Given the description of an element on the screen output the (x, y) to click on. 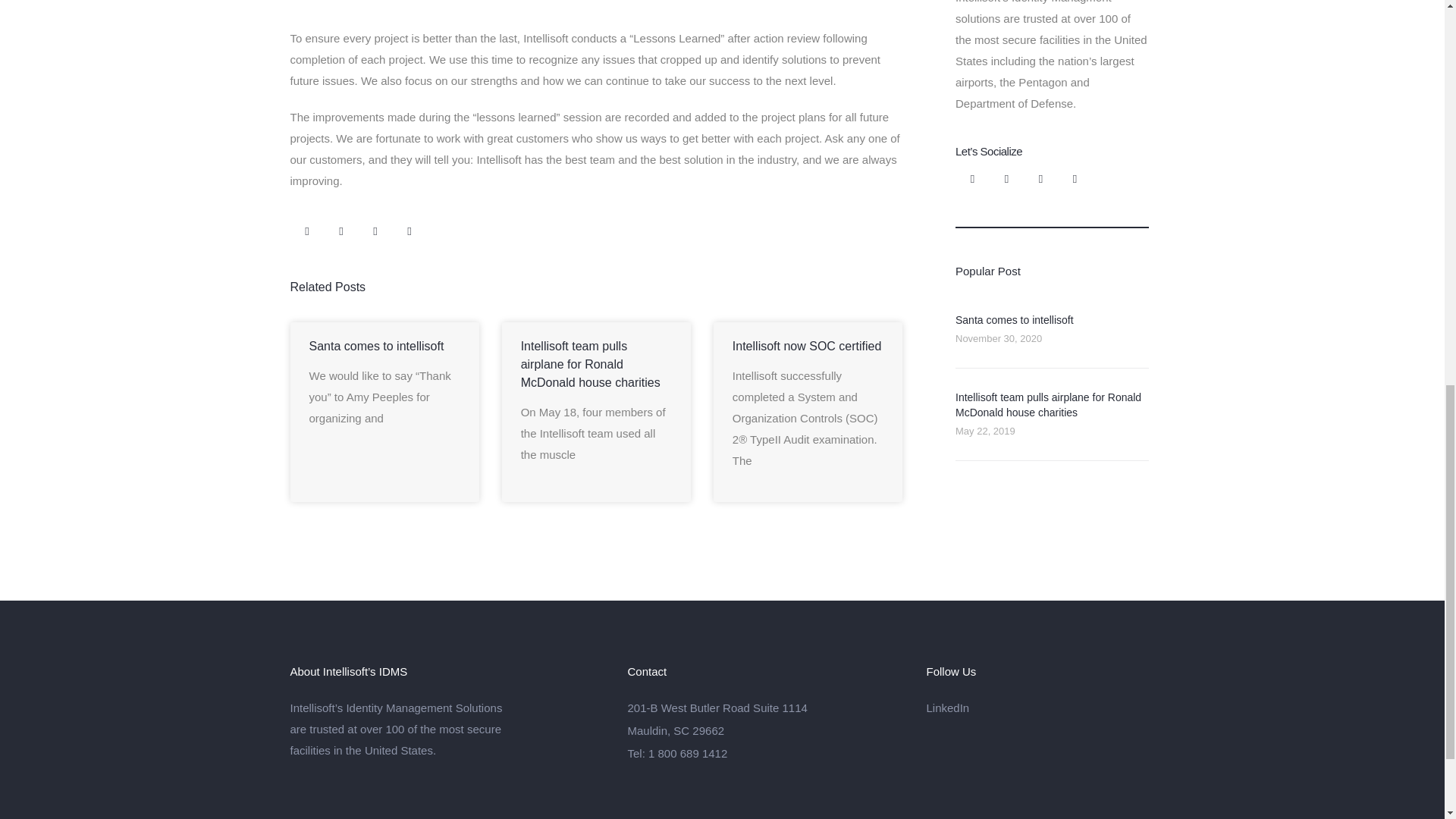
Tel: 1 800 689 1412 (764, 752)
Intellisoft now SOC certified (807, 345)
Santa comes to intellisoft (1014, 319)
LinkedIn (1037, 707)
Santa comes to intellisoft (376, 345)
201-B West Butler Road Suite 1114 (764, 707)
Mauldin, SC 29662 (764, 730)
